Given the description of an element on the screen output the (x, y) to click on. 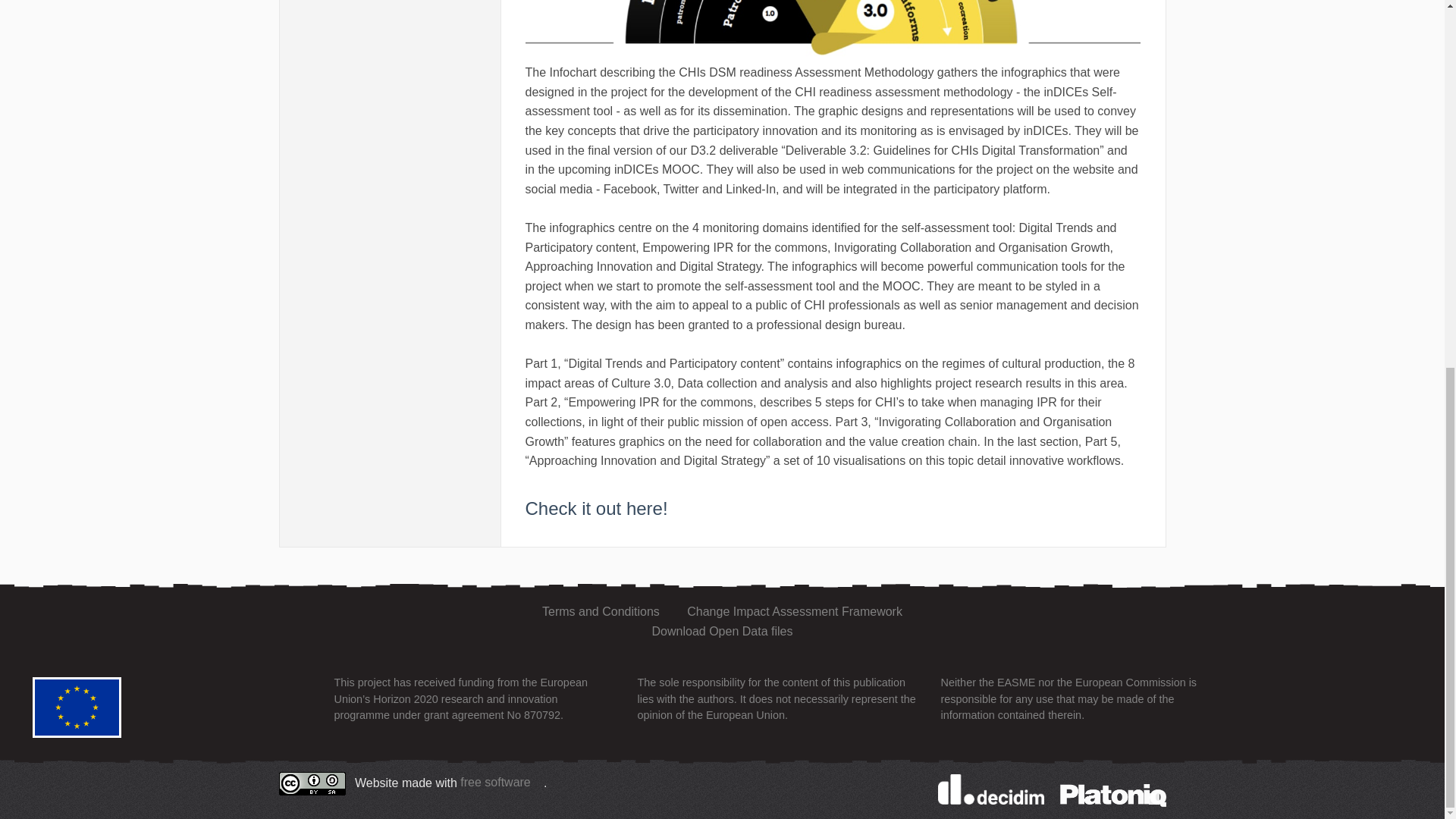
Change Impact Assessment Framework (794, 611)
Terms and Conditions (600, 611)
Download Open Data files (722, 631)
